Given the description of an element on the screen output the (x, y) to click on. 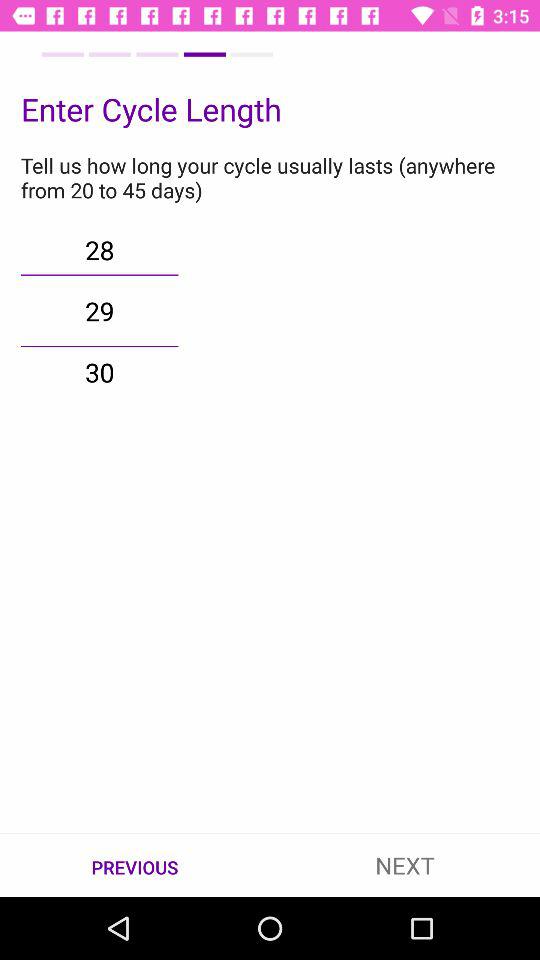
turn on the previous at the bottom left corner (135, 865)
